Given the description of an element on the screen output the (x, y) to click on. 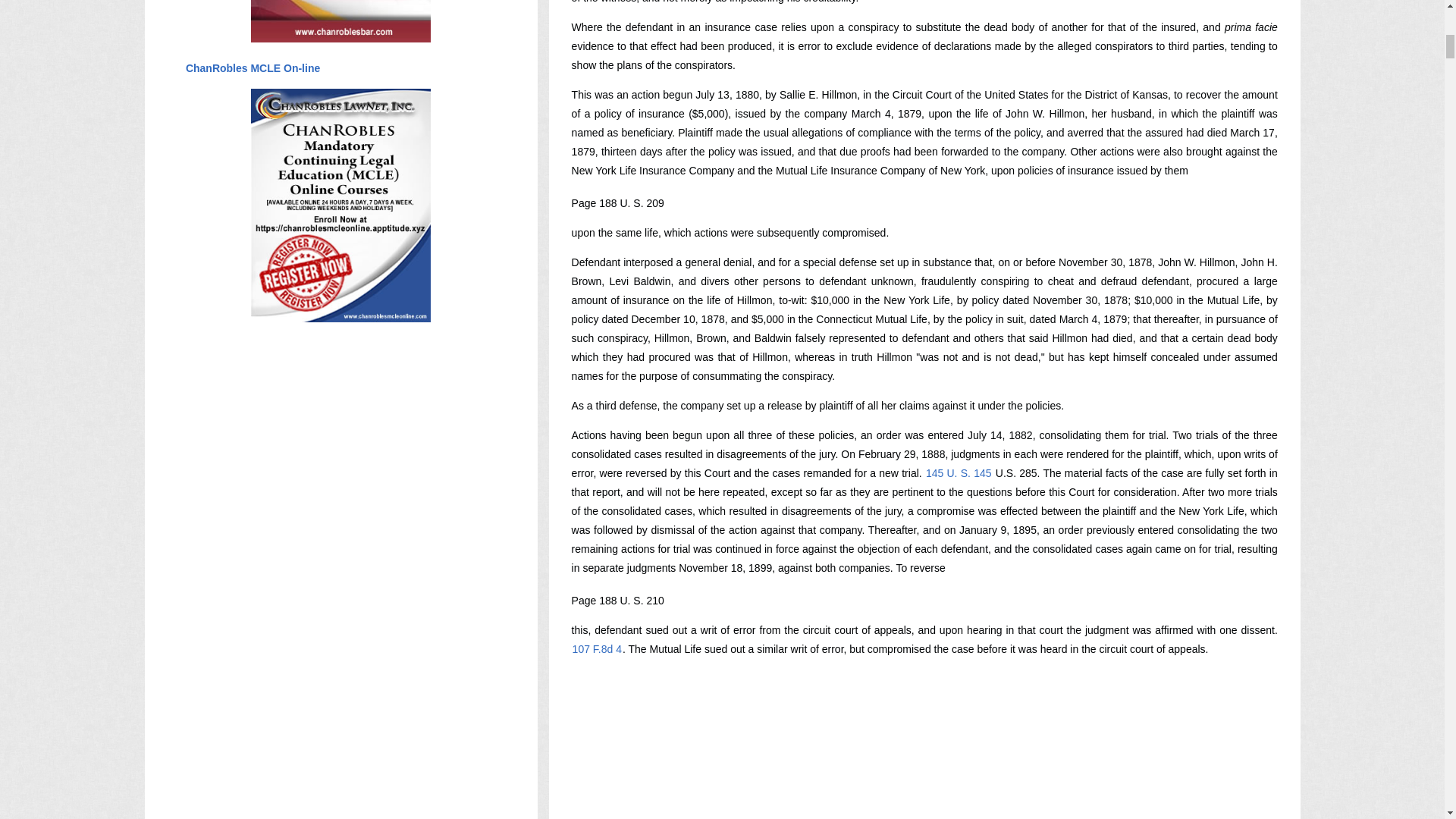
Page 188 U. S. 210 (617, 600)
Advertisement (848, 800)
ChanRobles MCLE On-line (252, 68)
Advertisement (848, 741)
Page 188 U. S. 209 (617, 203)
145 U. S. 145 (958, 472)
107 F.8d 4 (597, 648)
